Given the description of an element on the screen output the (x, y) to click on. 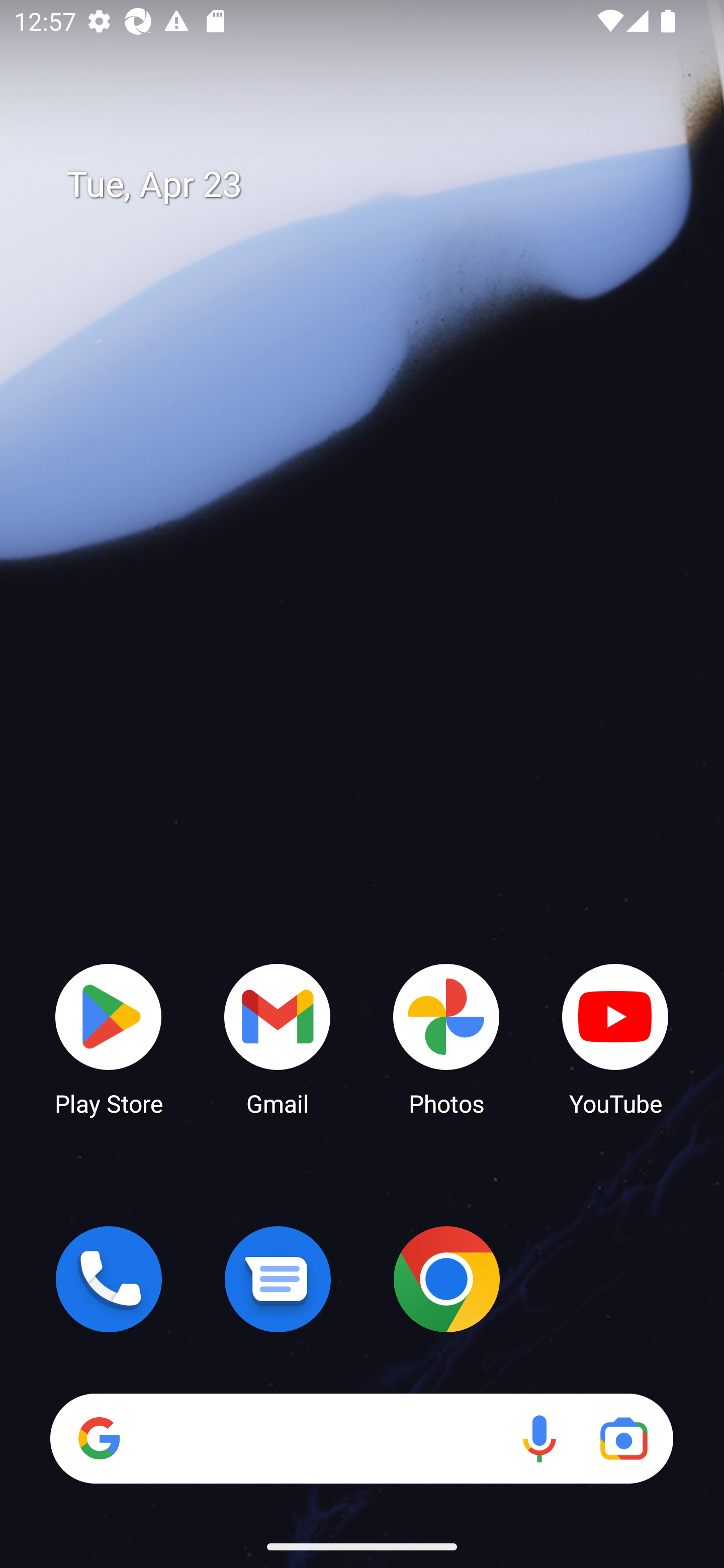
Tue, Apr 23 (375, 184)
Play Store (108, 1038)
Gmail (277, 1038)
Photos (445, 1038)
YouTube (615, 1038)
Phone (108, 1279)
Messages (277, 1279)
Chrome (446, 1279)
Search Voice search Google Lens (361, 1438)
Voice search (539, 1438)
Google Lens (623, 1438)
